Given the description of an element on the screen output the (x, y) to click on. 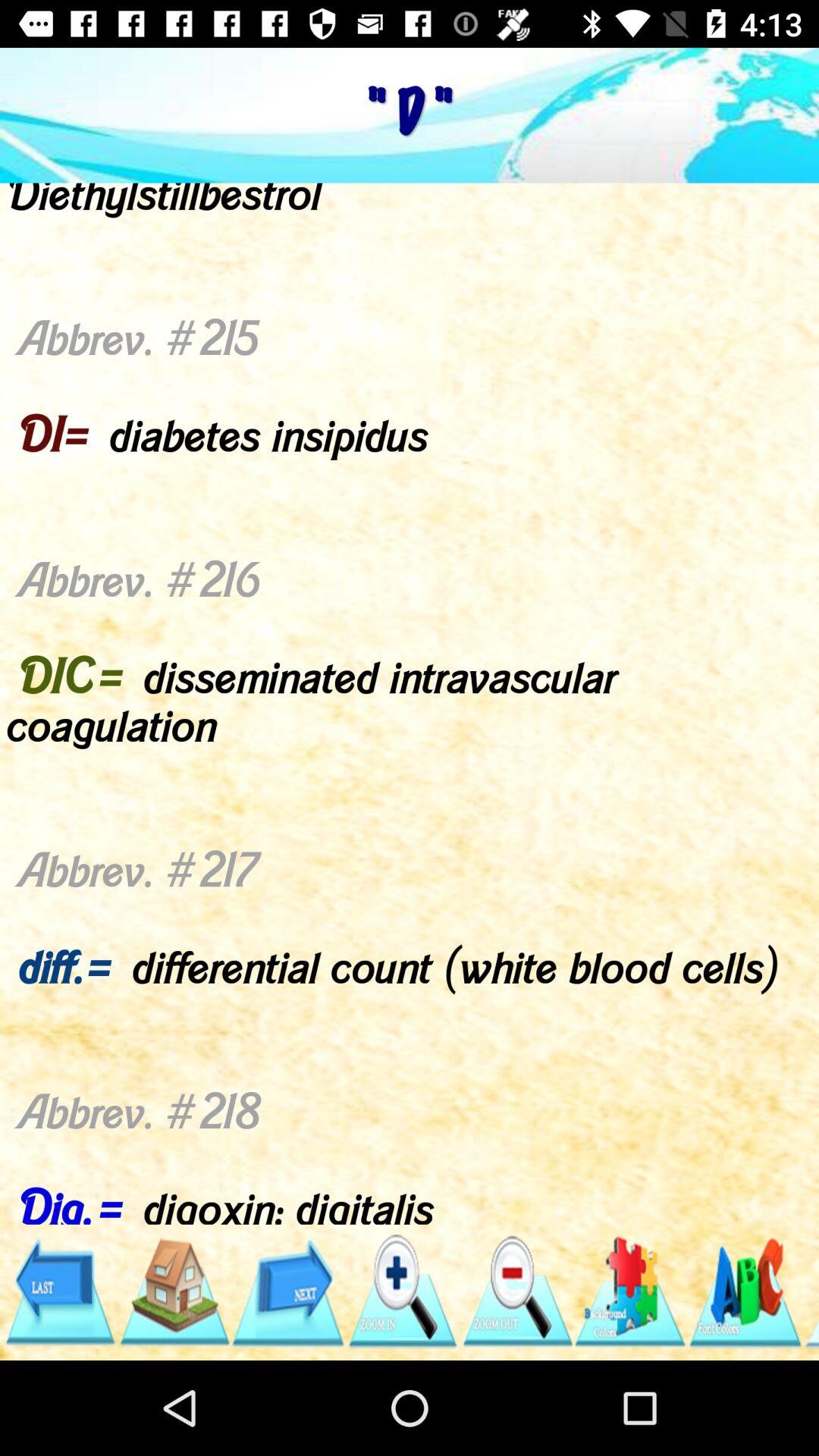
turn off the icon below abbrev 	209	 	d item (173, 1291)
